Given the description of an element on the screen output the (x, y) to click on. 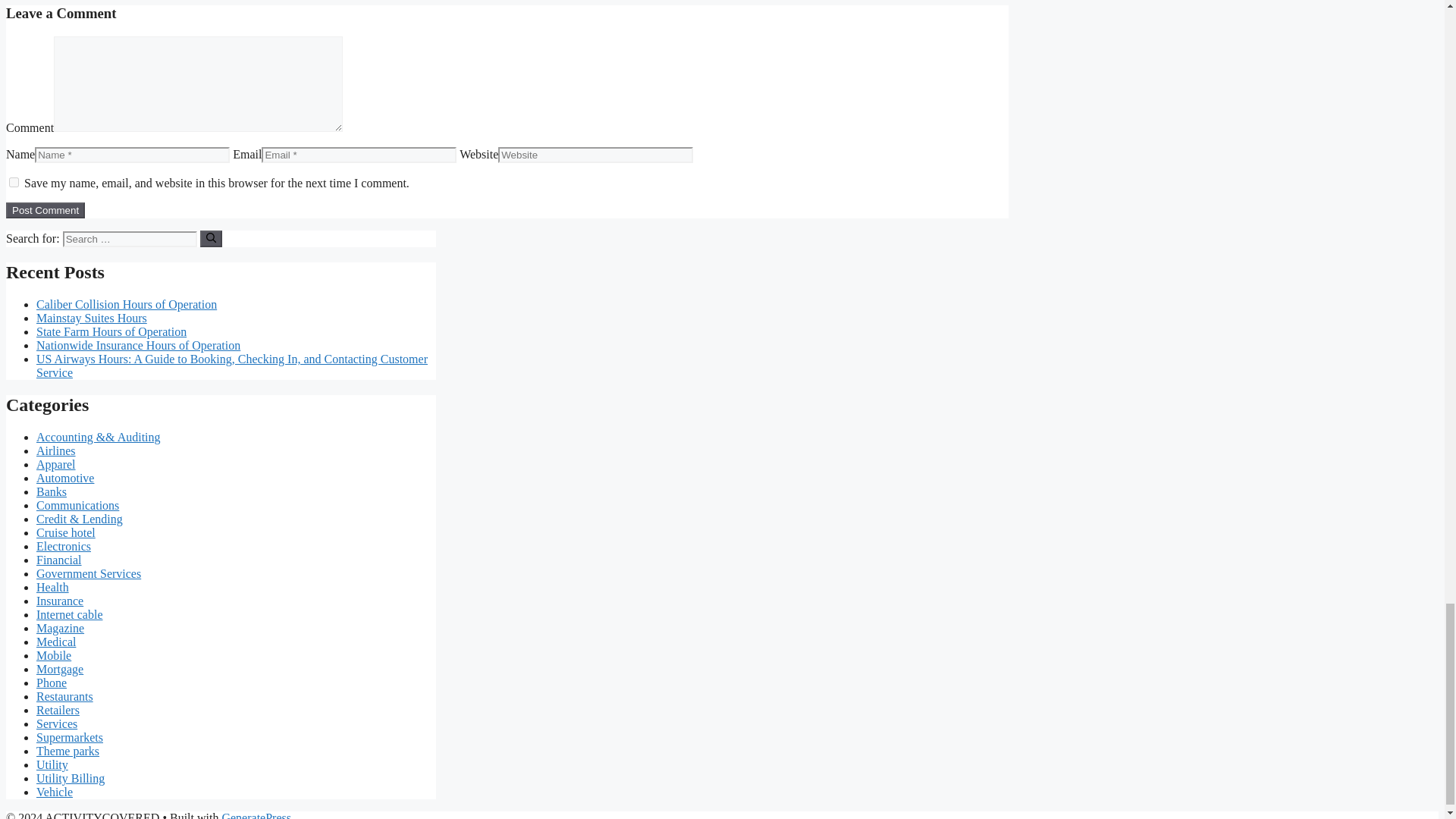
Apparel (55, 463)
Cruise hotel (66, 532)
Financial (58, 559)
Insurance (59, 600)
yes (13, 182)
Government Services (88, 573)
Automotive (65, 477)
Caliber Collision Hours of Operation (126, 304)
State Farm Hours of Operation (111, 331)
Mainstay Suites Hours (91, 318)
Nationwide Insurance Hours of Operation (138, 345)
Post Comment (44, 210)
Airlines (55, 450)
Electronics (63, 545)
